Given the description of an element on the screen output the (x, y) to click on. 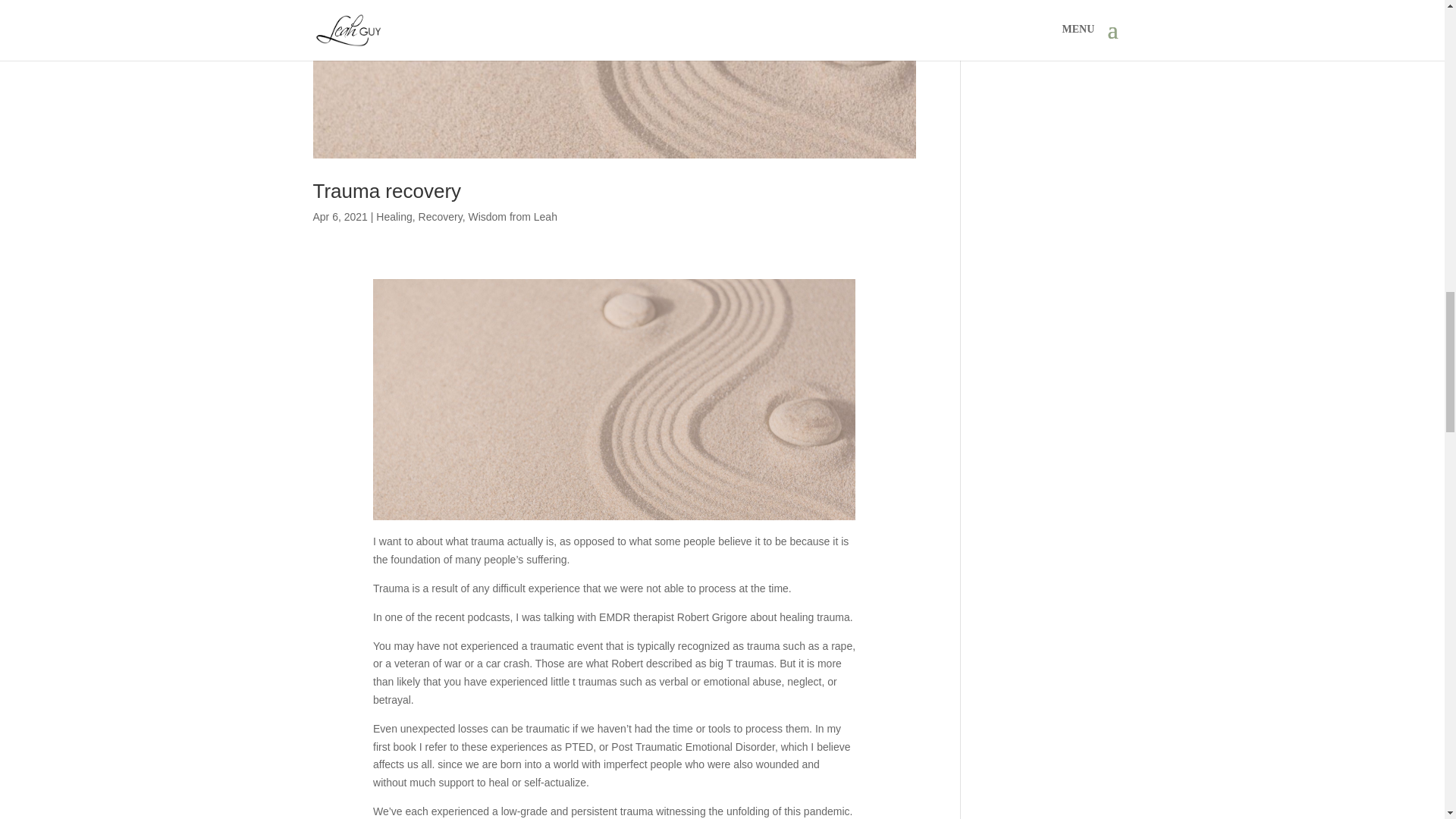
Recovery (441, 216)
Trauma recovery (387, 190)
Healing (393, 216)
9 (614, 399)
Wisdom from Leah (511, 216)
